Given the description of an element on the screen output the (x, y) to click on. 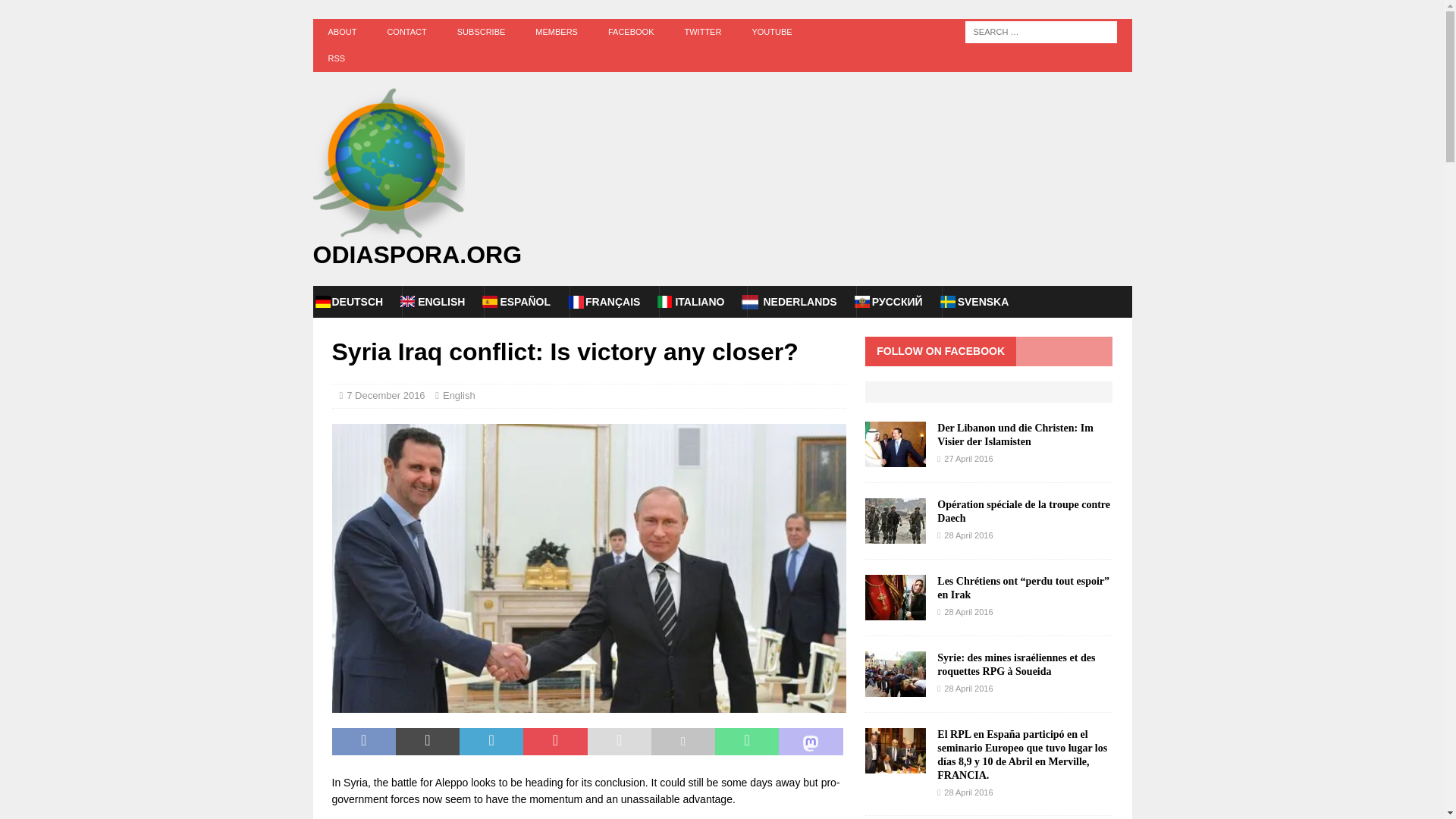
Tweet This Post (428, 741)
TWITTER (702, 31)
Share on Whatsapp (746, 741)
Send this article to a friend (619, 741)
SVENSKA (983, 301)
ITALIANO (699, 301)
FACEBOOK (630, 31)
Print this article (682, 741)
Search (56, 11)
MEMBERS (555, 31)
RSS (336, 58)
ODIASPORA.ORG (722, 254)
odiaspora.org (722, 254)
NEDERLANDS (798, 301)
Share On Mastodon (810, 741)
